Given the description of an element on the screen output the (x, y) to click on. 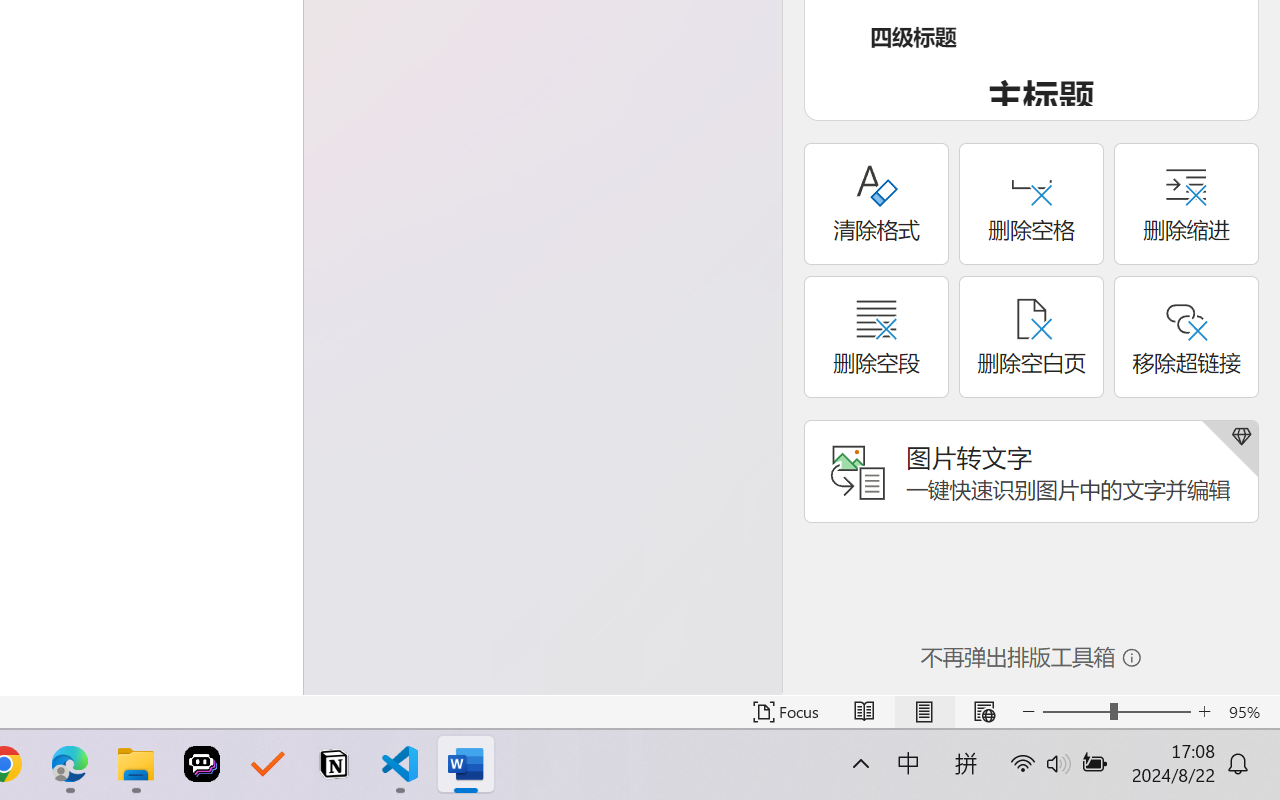
Zoom 95% (1249, 712)
